Given the description of an element on the screen output the (x, y) to click on. 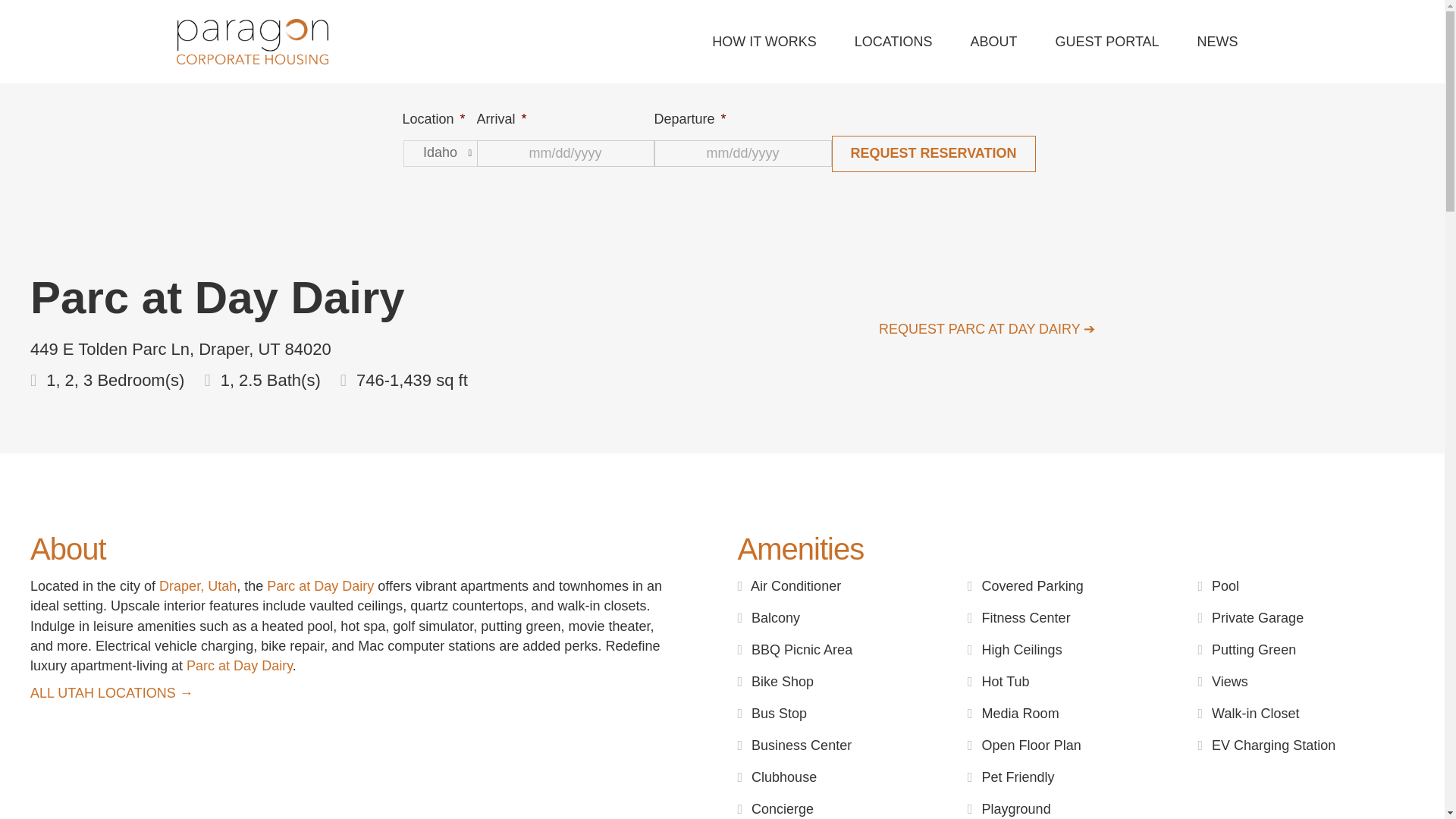
GUEST PORTAL (1107, 41)
HOW IT WORKS (764, 41)
ABOUT (993, 41)
LOCATIONS (893, 41)
NEWS (1217, 41)
paragon-corporate-housing-logo (252, 41)
REQUEST RESERVATION (933, 153)
